Given the description of an element on the screen output the (x, y) to click on. 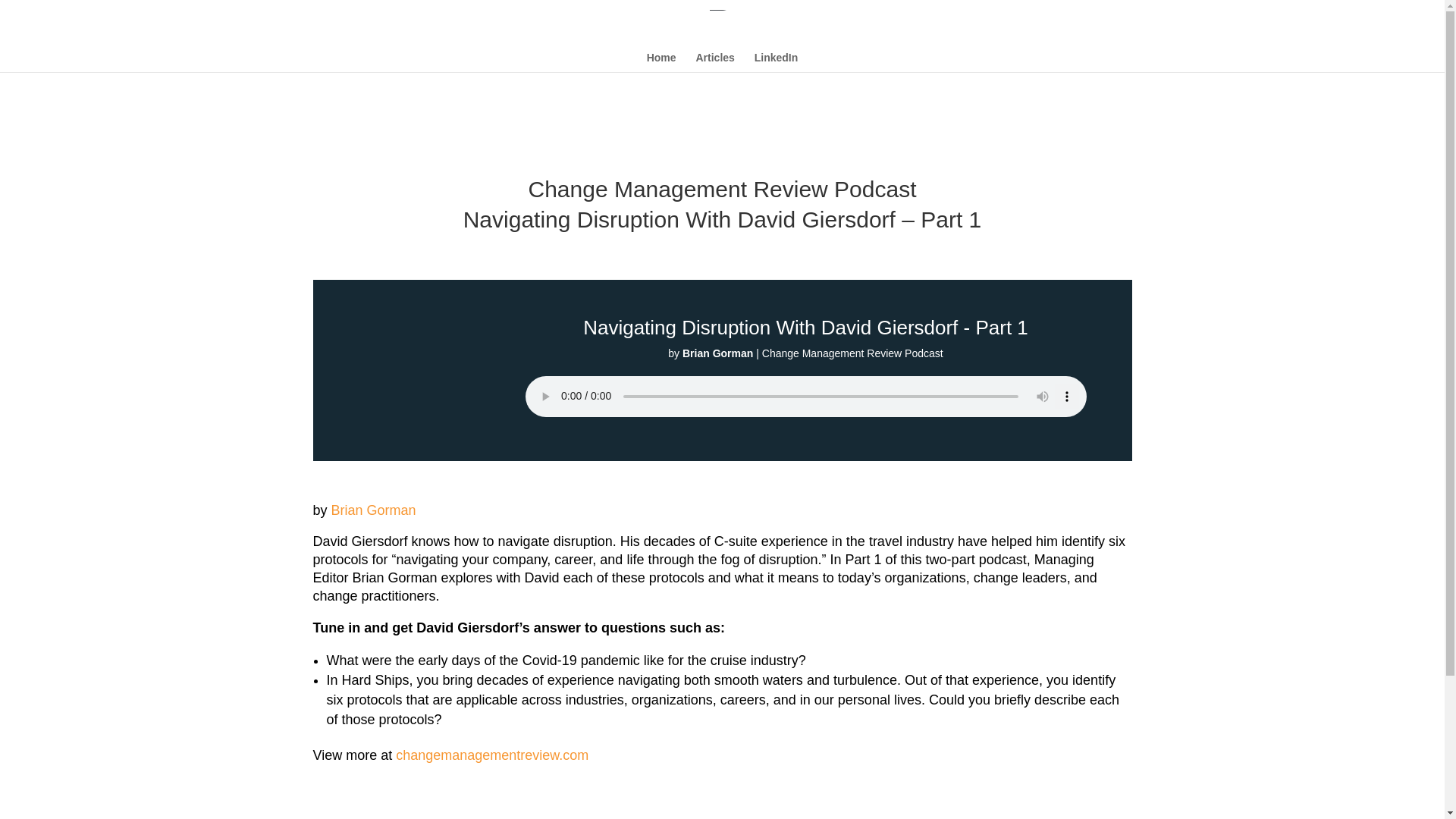
Articles (714, 62)
Brian Gorman (373, 509)
changemanagementreview.com (492, 754)
Home (661, 62)
LinkedIn (775, 62)
